Given the description of an element on the screen output the (x, y) to click on. 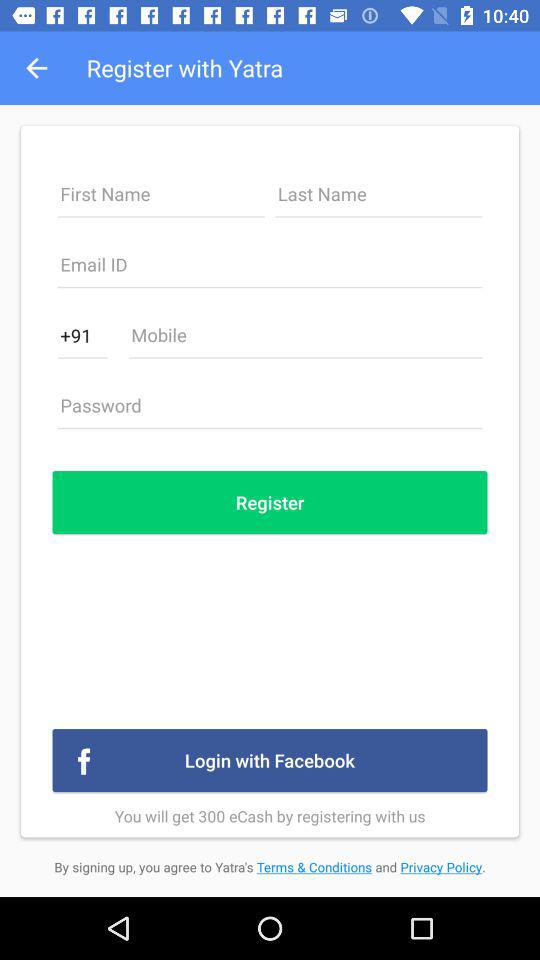
enter password (269, 411)
